Given the description of an element on the screen output the (x, y) to click on. 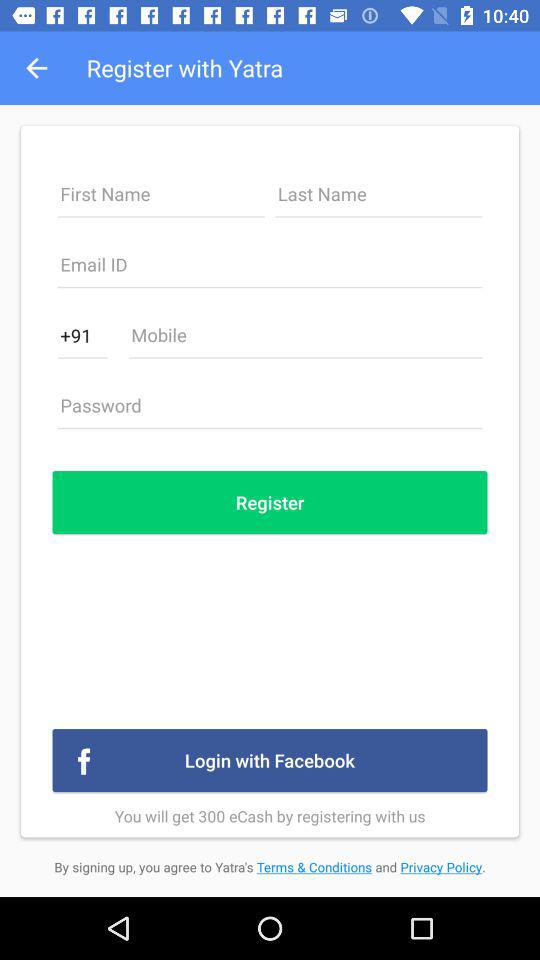
enter password (269, 411)
